Given the description of an element on the screen output the (x, y) to click on. 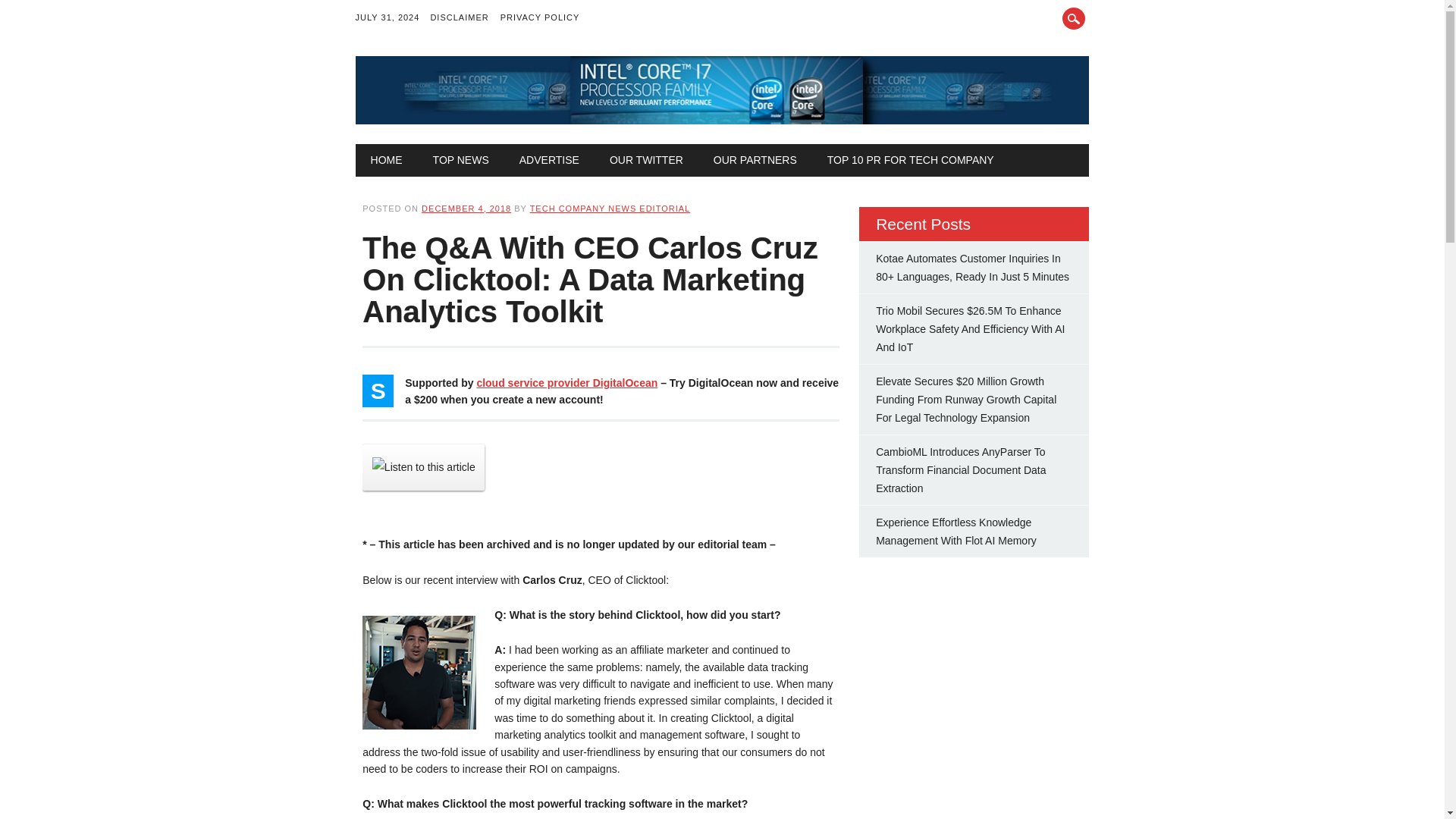
OUR PARTNERS (755, 160)
3:50 am (466, 207)
View all posts by Tech Company News Editorial (609, 207)
DECEMBER 4, 2018 (466, 207)
DISCLAIMER (464, 17)
TOP NEWS (460, 160)
TOP 10 PR FOR TECH COMPANY (910, 160)
PRIVACY POLICY (545, 17)
ADVERTISE (548, 160)
OUR TWITTER (646, 160)
TECH COMPANY NEWS EDITORIAL (609, 207)
HOME (386, 160)
cloud service provider DigitalOcean (567, 382)
